Given the description of an element on the screen output the (x, y) to click on. 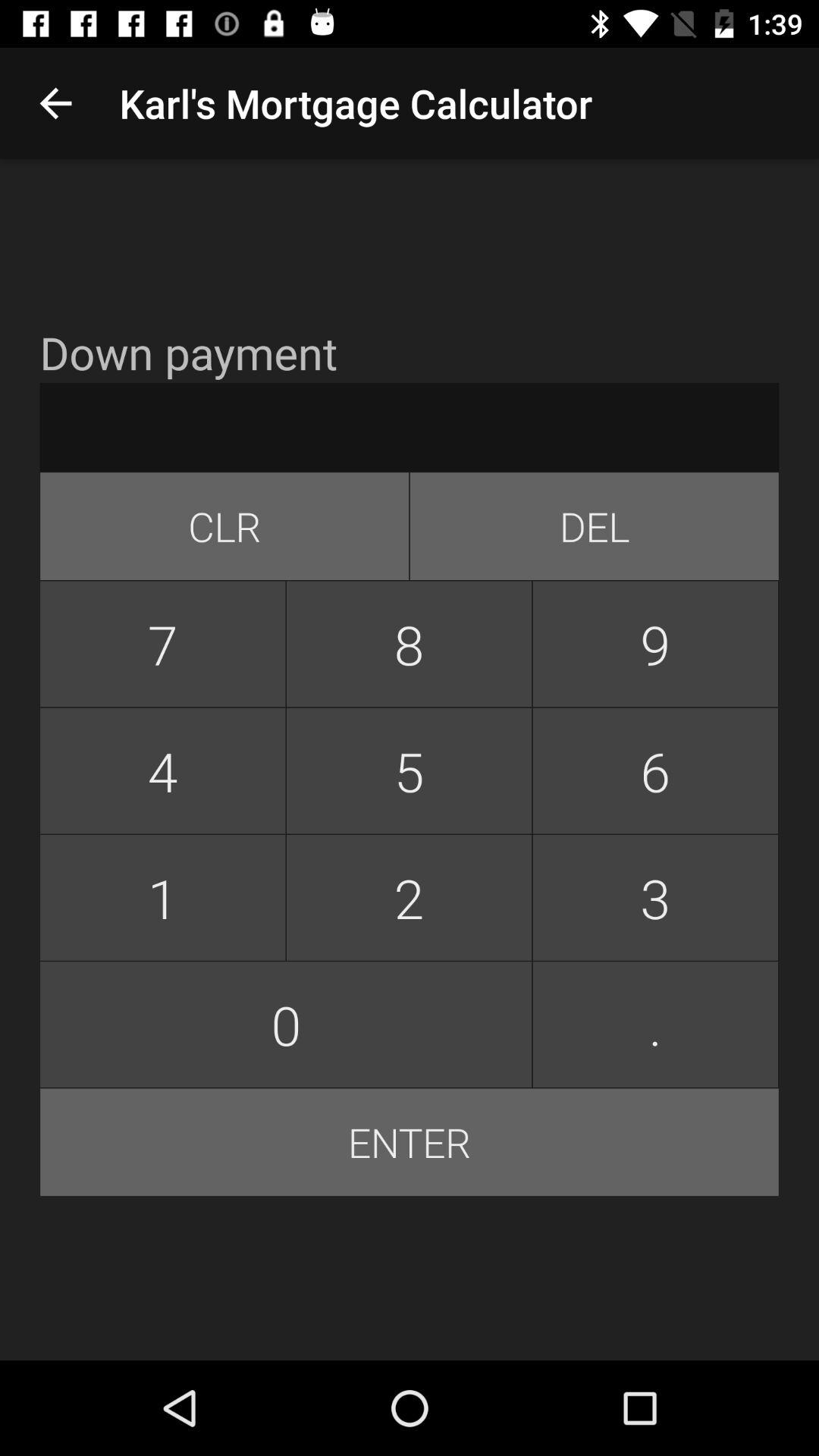
tap the item below the 0 (409, 1142)
